Given the description of an element on the screen output the (x, y) to click on. 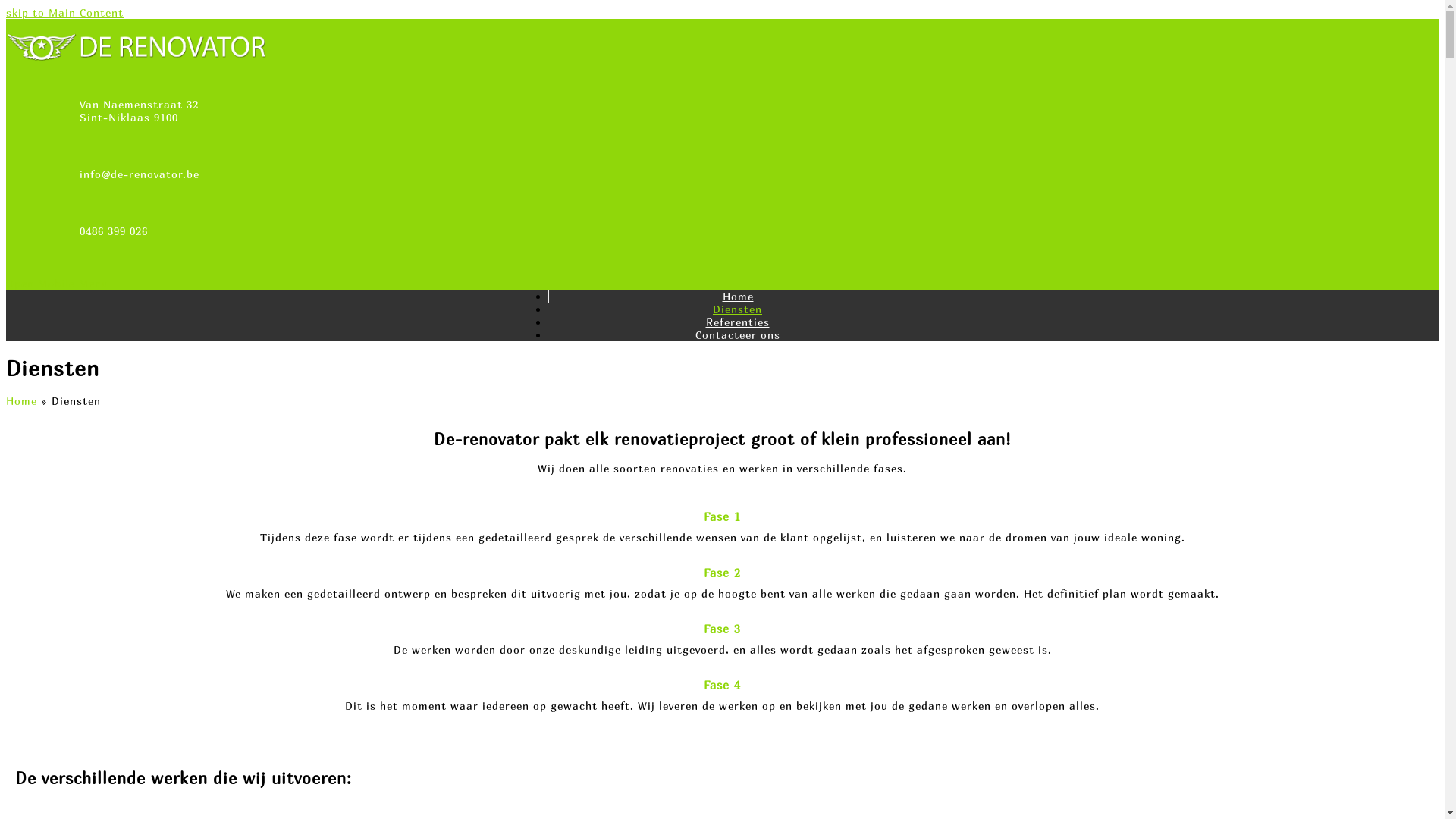
Home Element type: text (737, 295)
Diensten Element type: text (737, 308)
Home Element type: text (21, 400)
Referenties Element type: text (736, 321)
Contacteer ons Element type: text (736, 334)
skip to Main Content Element type: text (64, 12)
Open Mobile Menu Element type: text (57, 282)
